Given the description of an element on the screen output the (x, y) to click on. 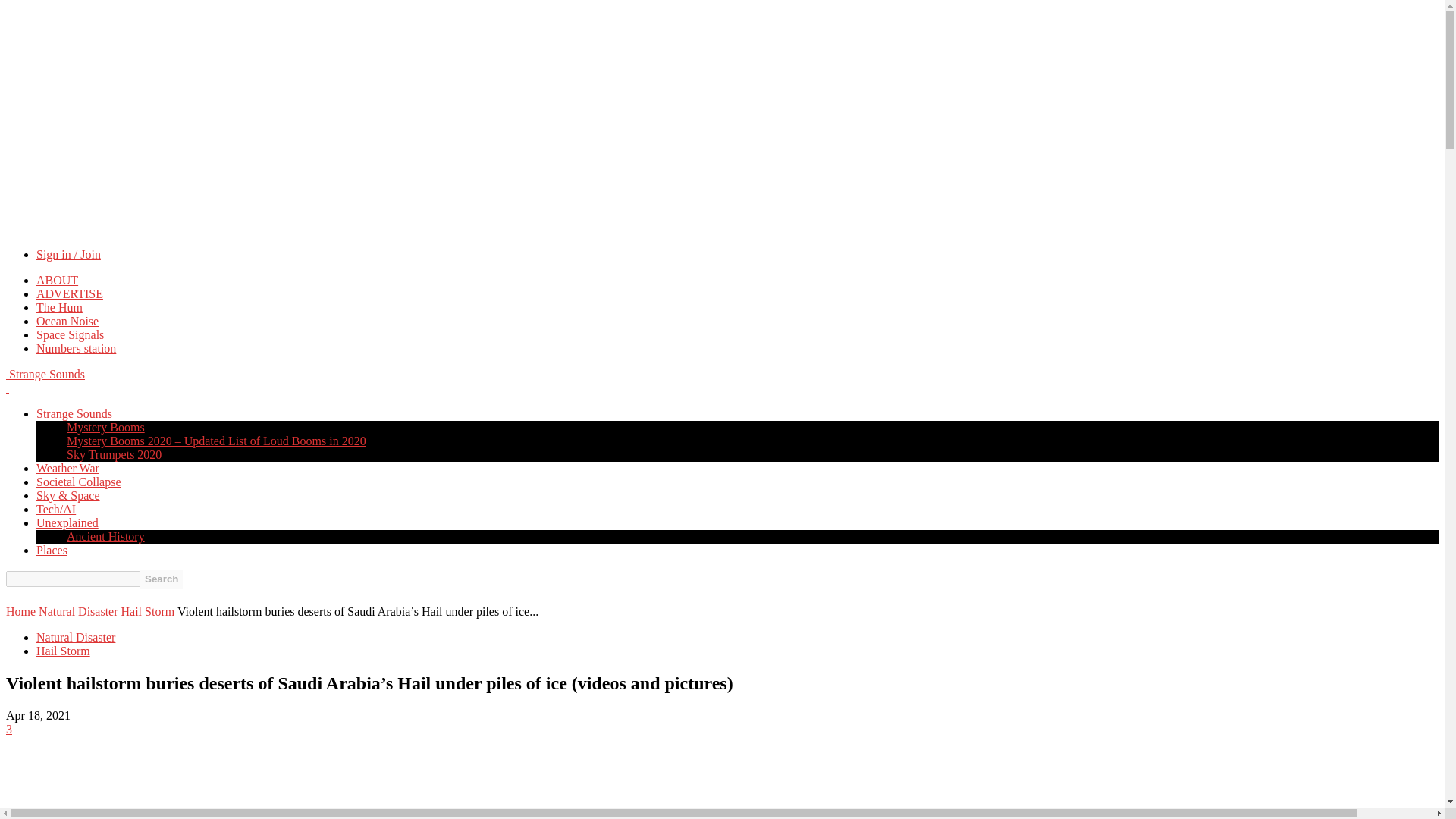
ADVERTISE (69, 293)
The Hum mysterious phenomenon (59, 307)
ABOUT (57, 279)
The Hum (59, 307)
Search (161, 578)
Strange Sounds (44, 373)
Space Signals (69, 334)
About Strange Sounds (57, 279)
Unexplained sounds of the deep ocean (67, 320)
Ocean Noise (67, 320)
ADVERTISE ON STRANGE SOUNDS (69, 293)
Numbers station (76, 348)
